Given the description of an element on the screen output the (x, y) to click on. 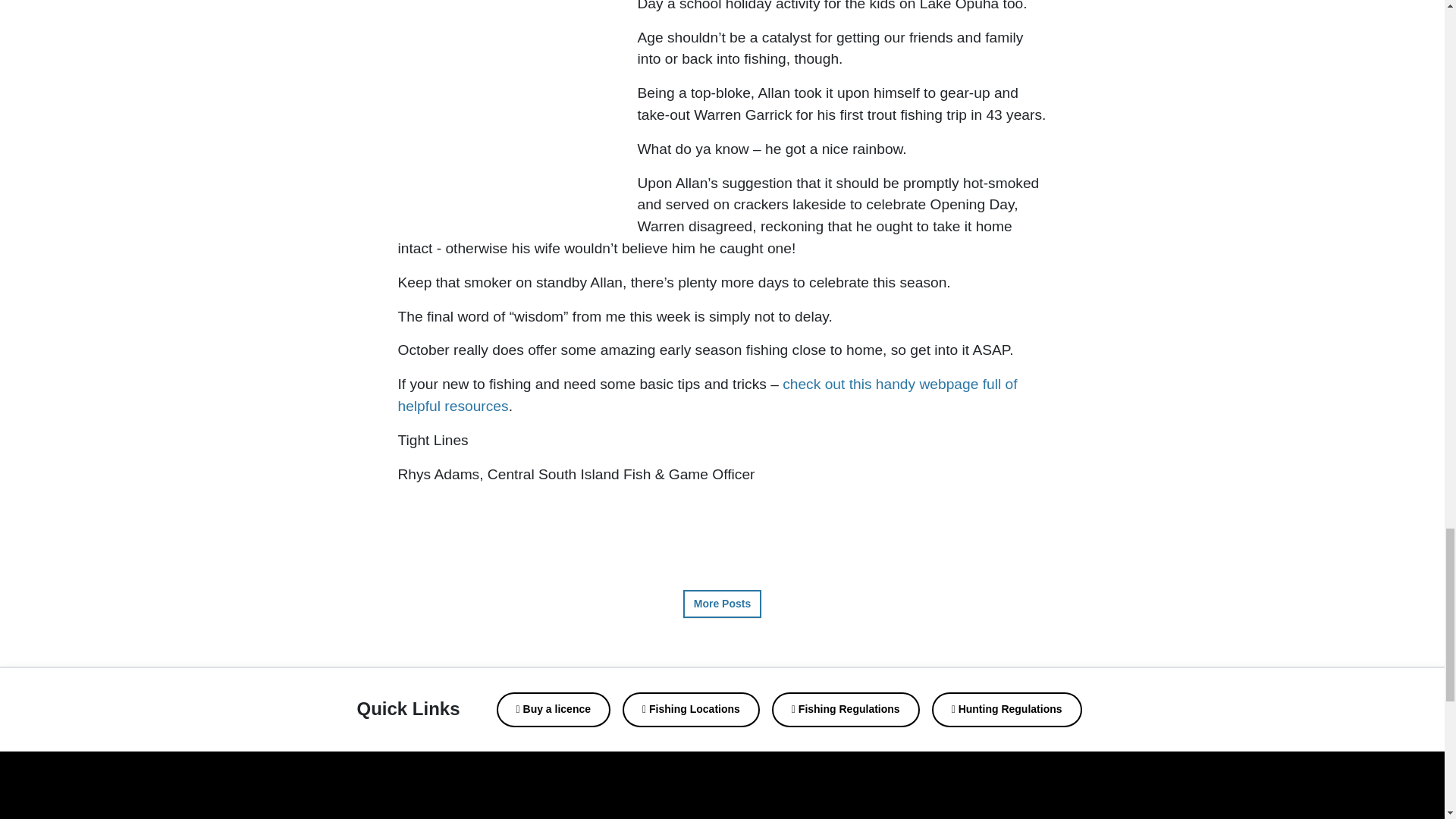
Fishing Locations (691, 709)
More Posts (721, 603)
Hunting Regulations (1006, 709)
Fishing Regulations (845, 709)
Buy a licence (553, 709)
check out this handy webpage full of helpful resources (706, 394)
